Given the description of an element on the screen output the (x, y) to click on. 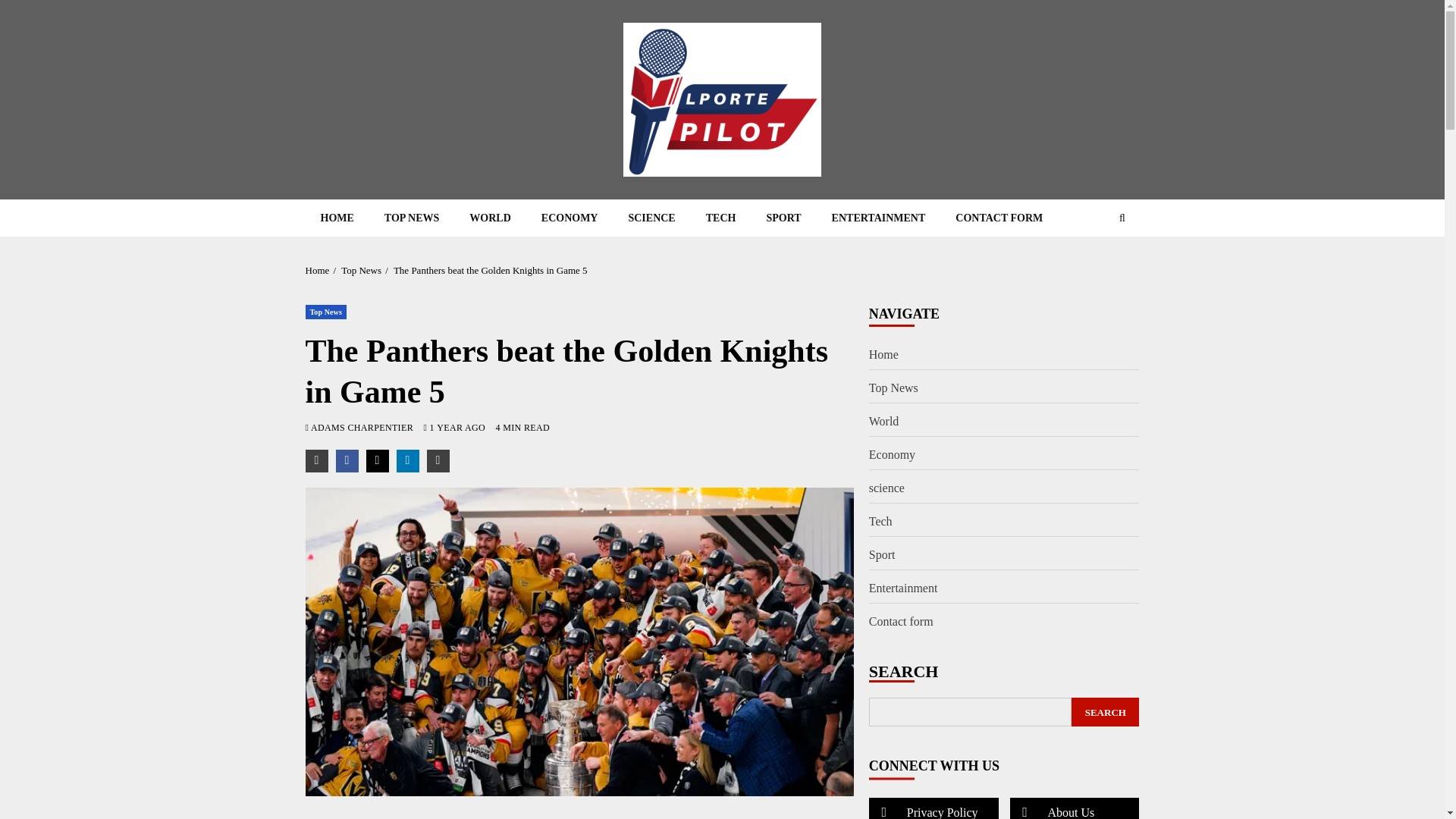
ECONOMY (568, 217)
The Panthers beat the Golden Knights in Game 5 (490, 270)
TOP NEWS (411, 217)
ADAMS CHARPENTIER (363, 427)
Home (316, 270)
TECH (720, 217)
HOME (336, 217)
ENTERTAINMENT (878, 217)
Search (1092, 263)
